Given the description of an element on the screen output the (x, y) to click on. 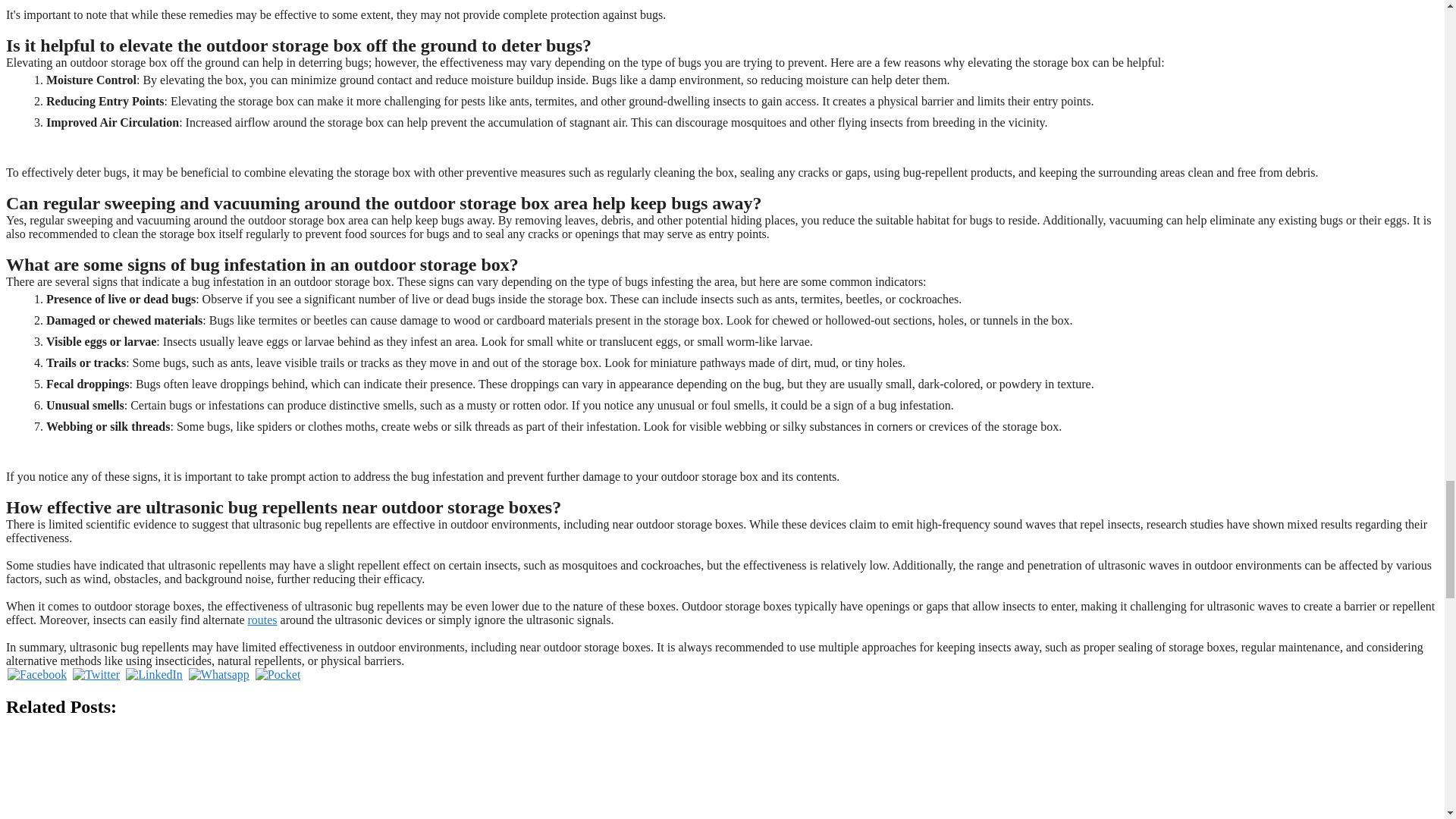
LinkedIn (154, 674)
Twitter (95, 674)
Whatsapp (218, 674)
Facebook (36, 674)
Pocket (278, 674)
